Given the description of an element on the screen output the (x, y) to click on. 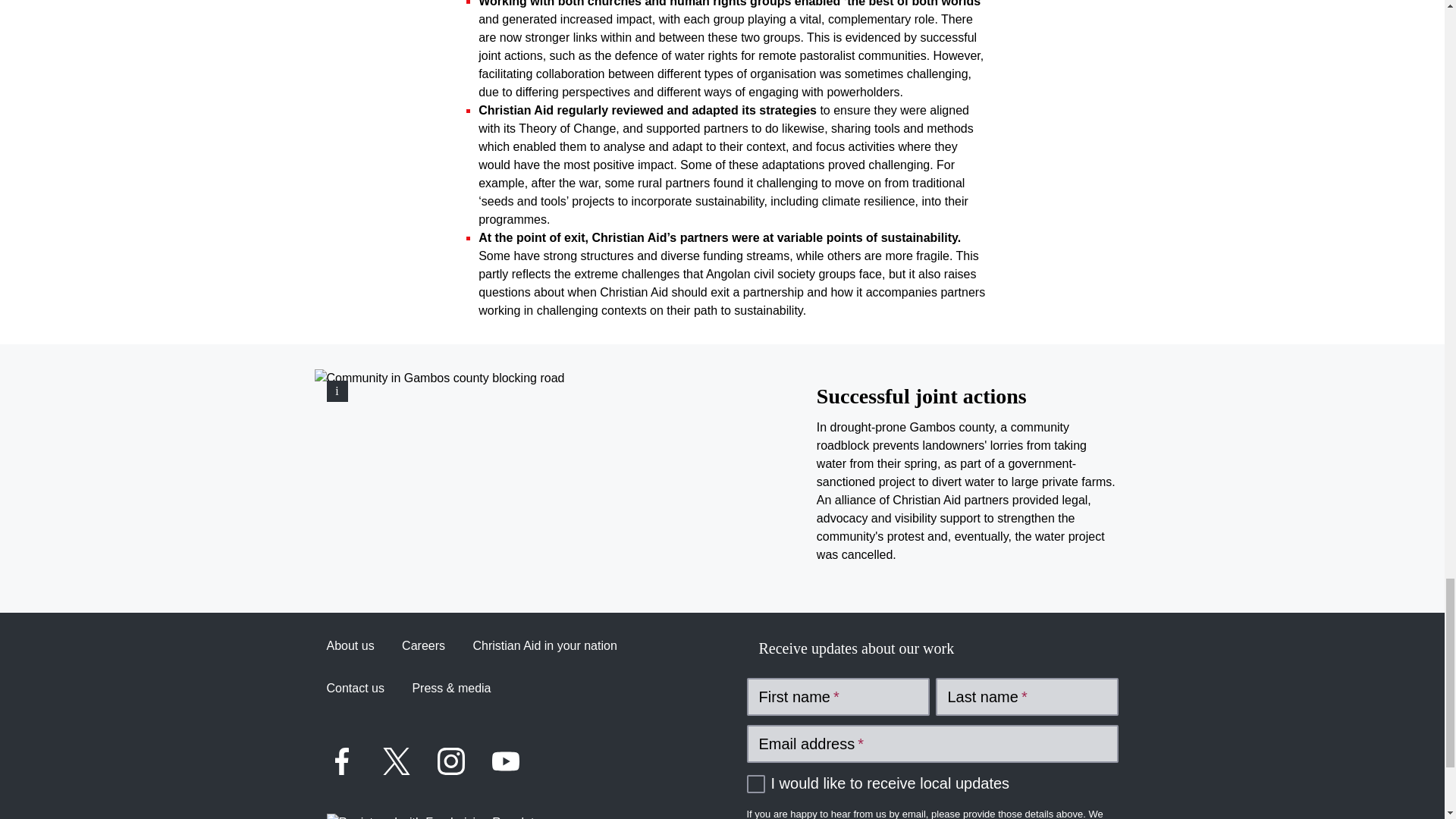
Twitter logo (395, 761)
Contact us (355, 688)
Christian Aid in your nation (544, 645)
Instagram logo (450, 761)
YouTube logo (504, 761)
Facebook logo (341, 761)
Instagram logo (450, 761)
Careers (423, 645)
Twitter logo (395, 761)
Facebook logo (341, 761)
